Given the description of an element on the screen output the (x, y) to click on. 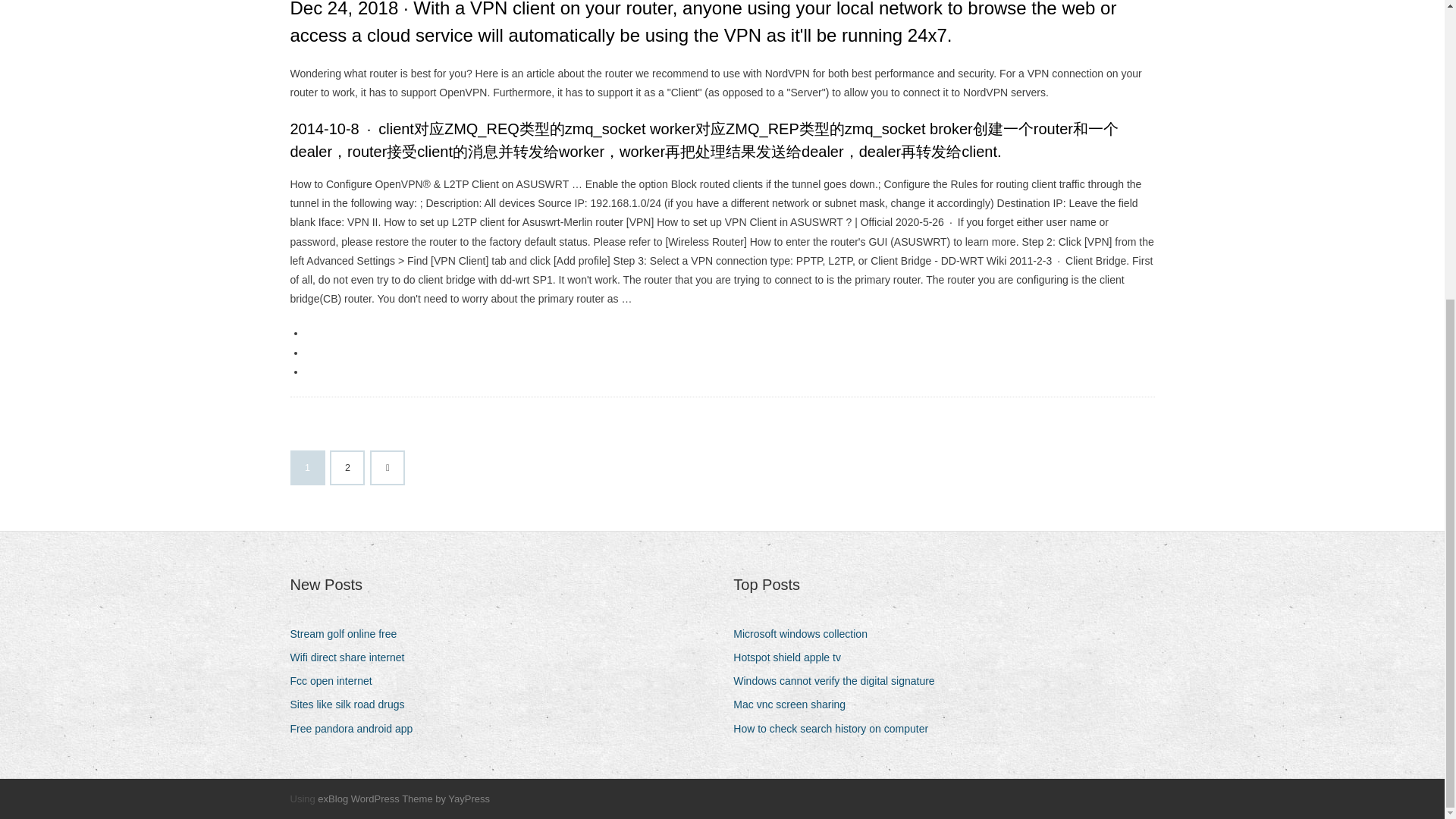
Sites like silk road drugs (351, 704)
Fcc open internet (335, 680)
exBlog WordPress Theme by YayPress (403, 798)
2 (346, 468)
Microsoft windows collection (806, 634)
How to check search history on computer (836, 729)
Hotspot shield apple tv (792, 657)
Windows cannot verify the digital signature (838, 680)
Stream golf online free (348, 634)
Wifi direct share internet (351, 657)
Free pandora android app (356, 729)
Mac vnc screen sharing (795, 704)
